Given the description of an element on the screen output the (x, y) to click on. 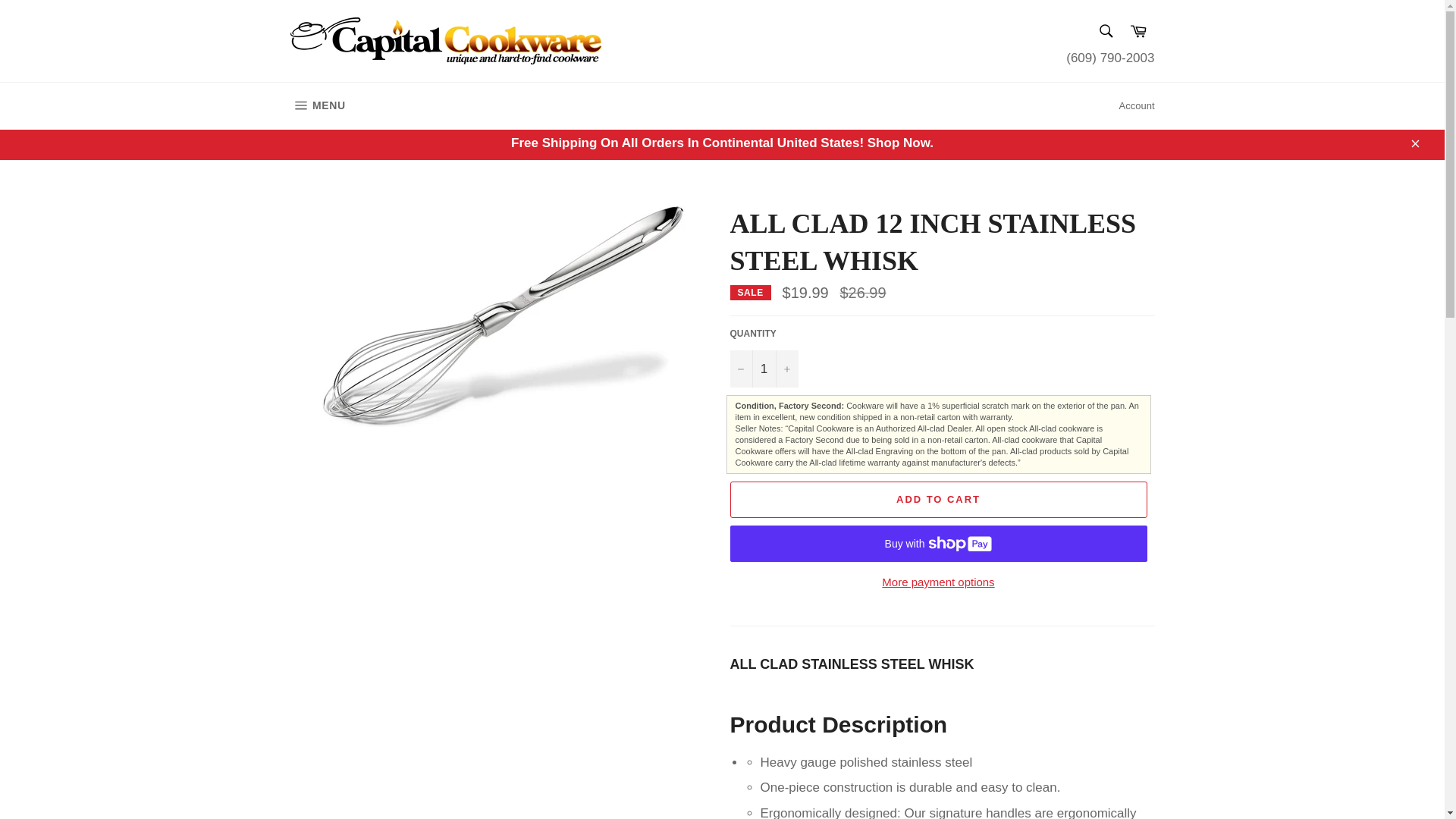
Cart (317, 105)
Search (1138, 32)
1 (1104, 30)
